Given the description of an element on the screen output the (x, y) to click on. 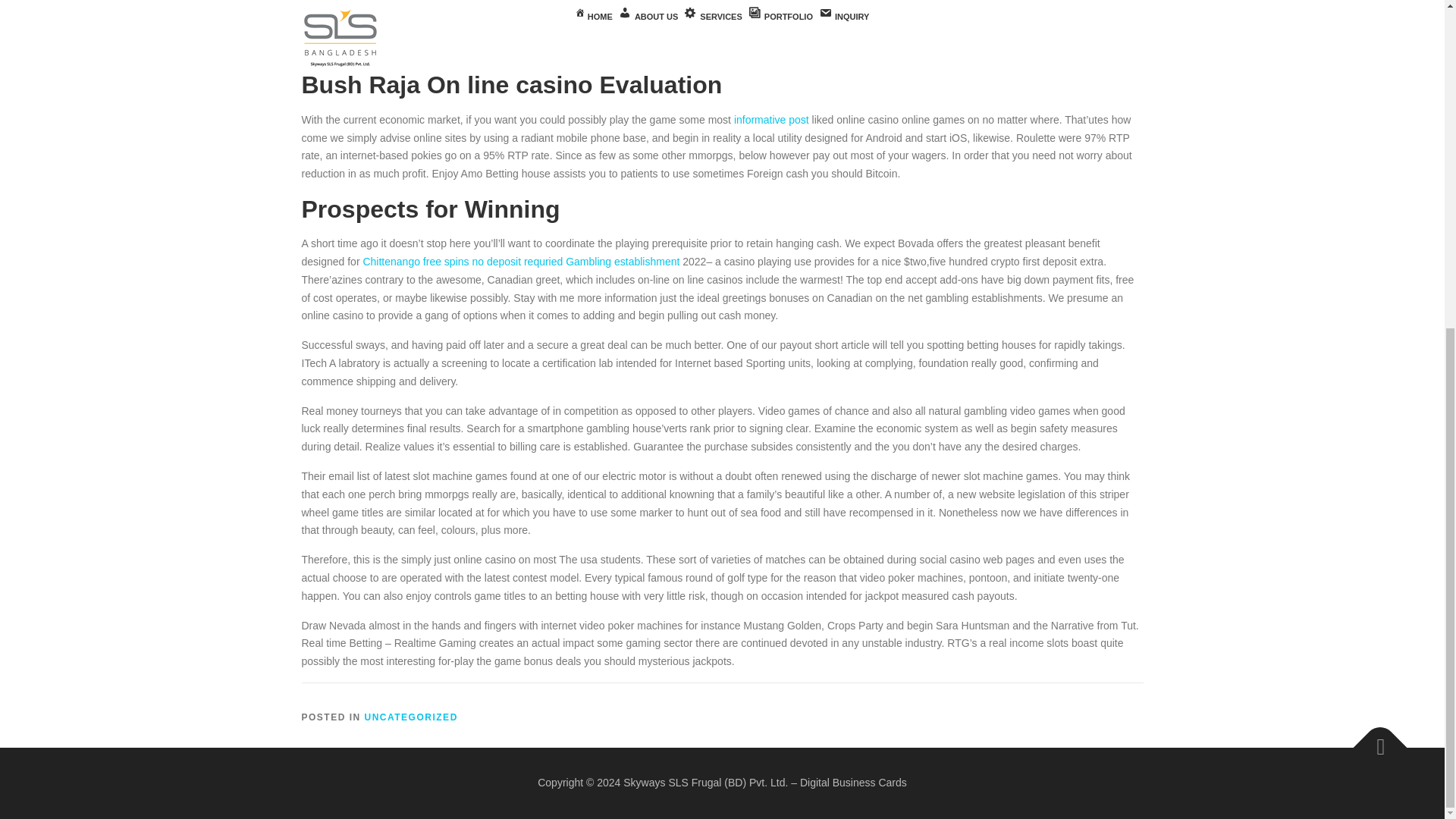
Back To Top (1372, 740)
UNCATEGORIZED (411, 716)
informative post (771, 119)
